Given the description of an element on the screen output the (x, y) to click on. 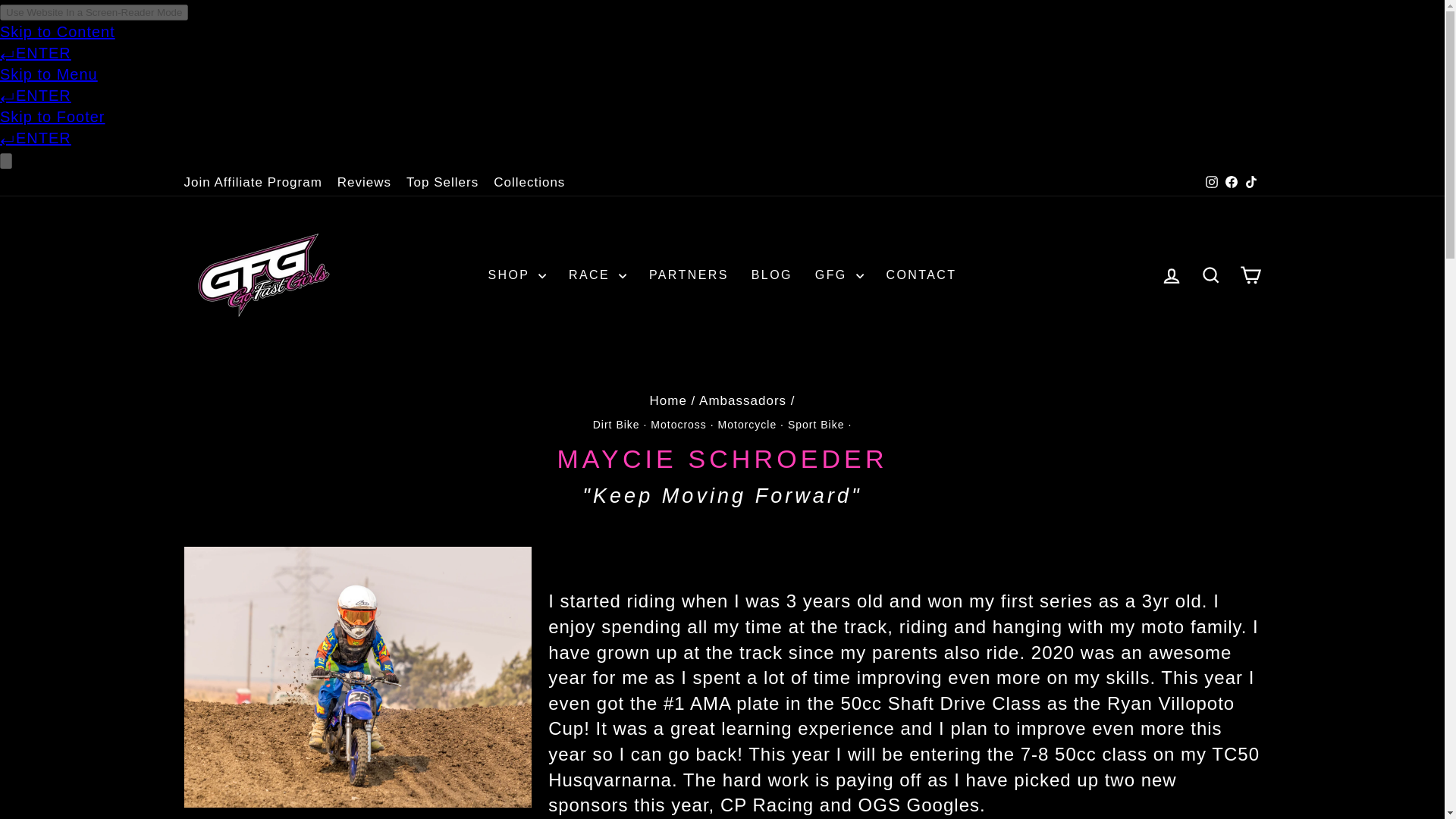
Back to the frontpage (667, 400)
instagram (1211, 182)
ICON-SEARCH (1210, 274)
ACCOUNT (1170, 275)
